Given the description of an element on the screen output the (x, y) to click on. 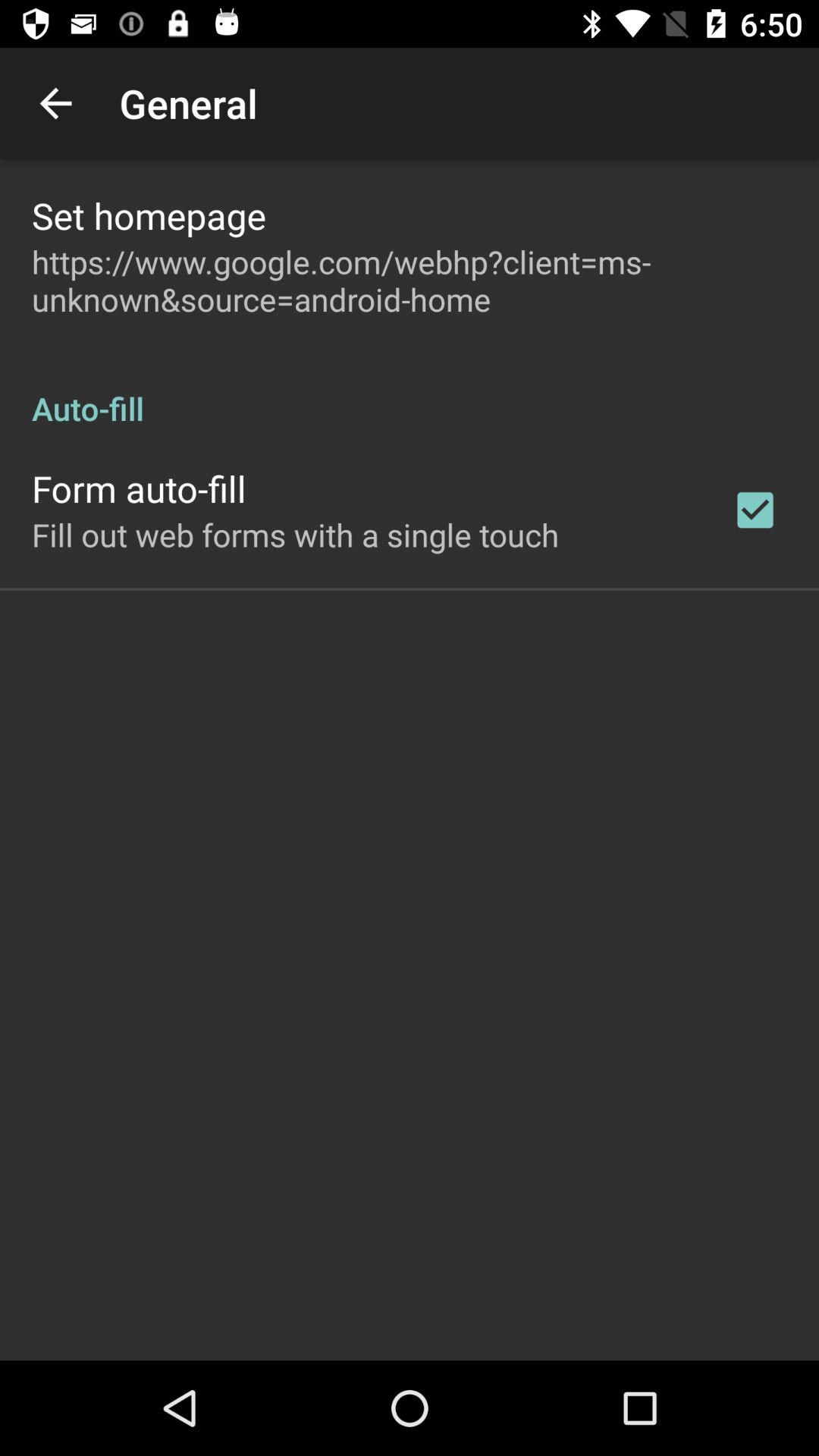
tap the app above the https www google app (148, 215)
